Given the description of an element on the screen output the (x, y) to click on. 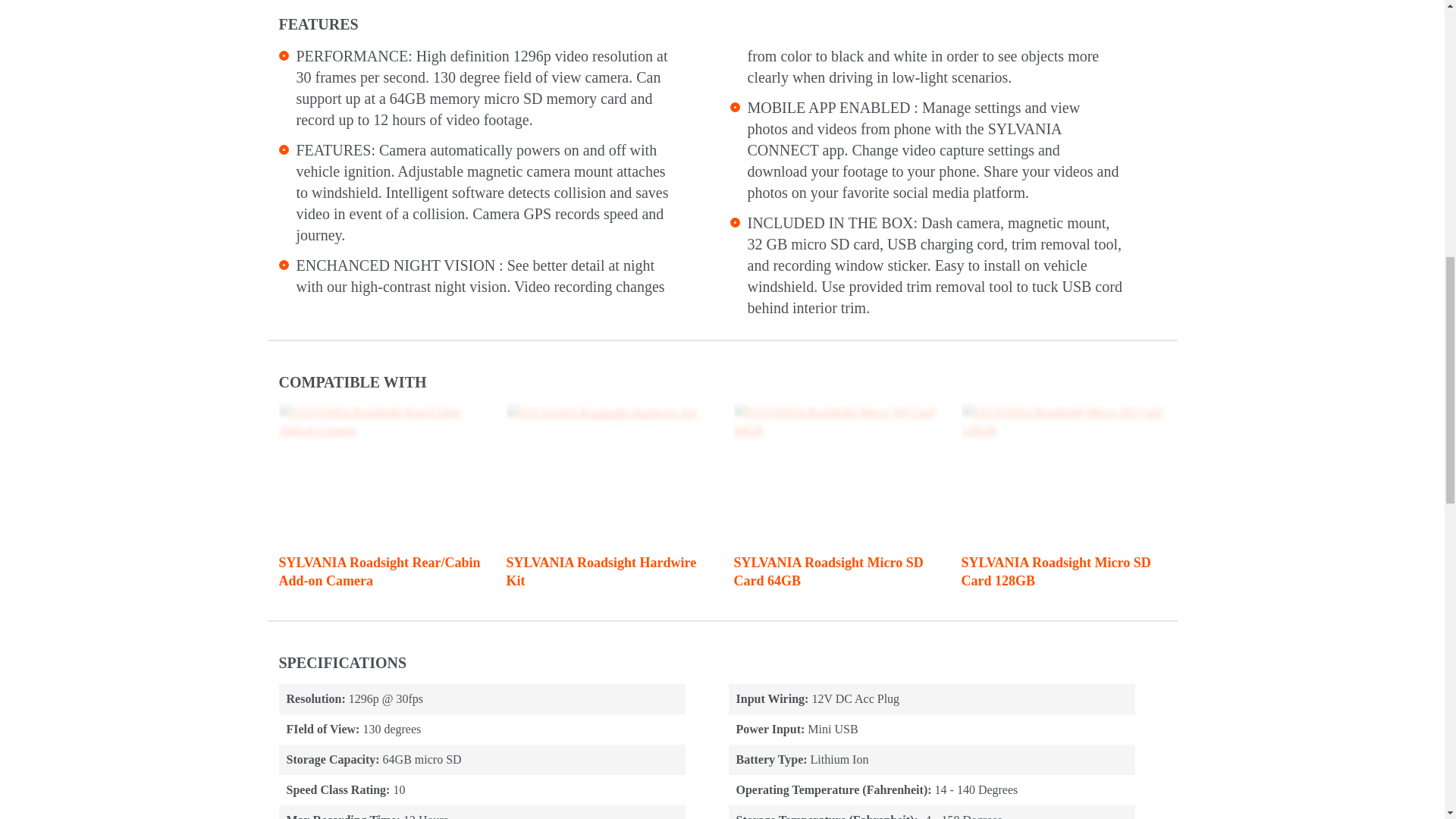
SYLVANIA Roadsight Micro SD Card 128GB,  (1063, 421)
SYLVANIA Roadsight Micro SD Card 64GB,  (836, 421)
SYLVANIA Roadsight Hardwire Kit,  (601, 413)
